Given the description of an element on the screen output the (x, y) to click on. 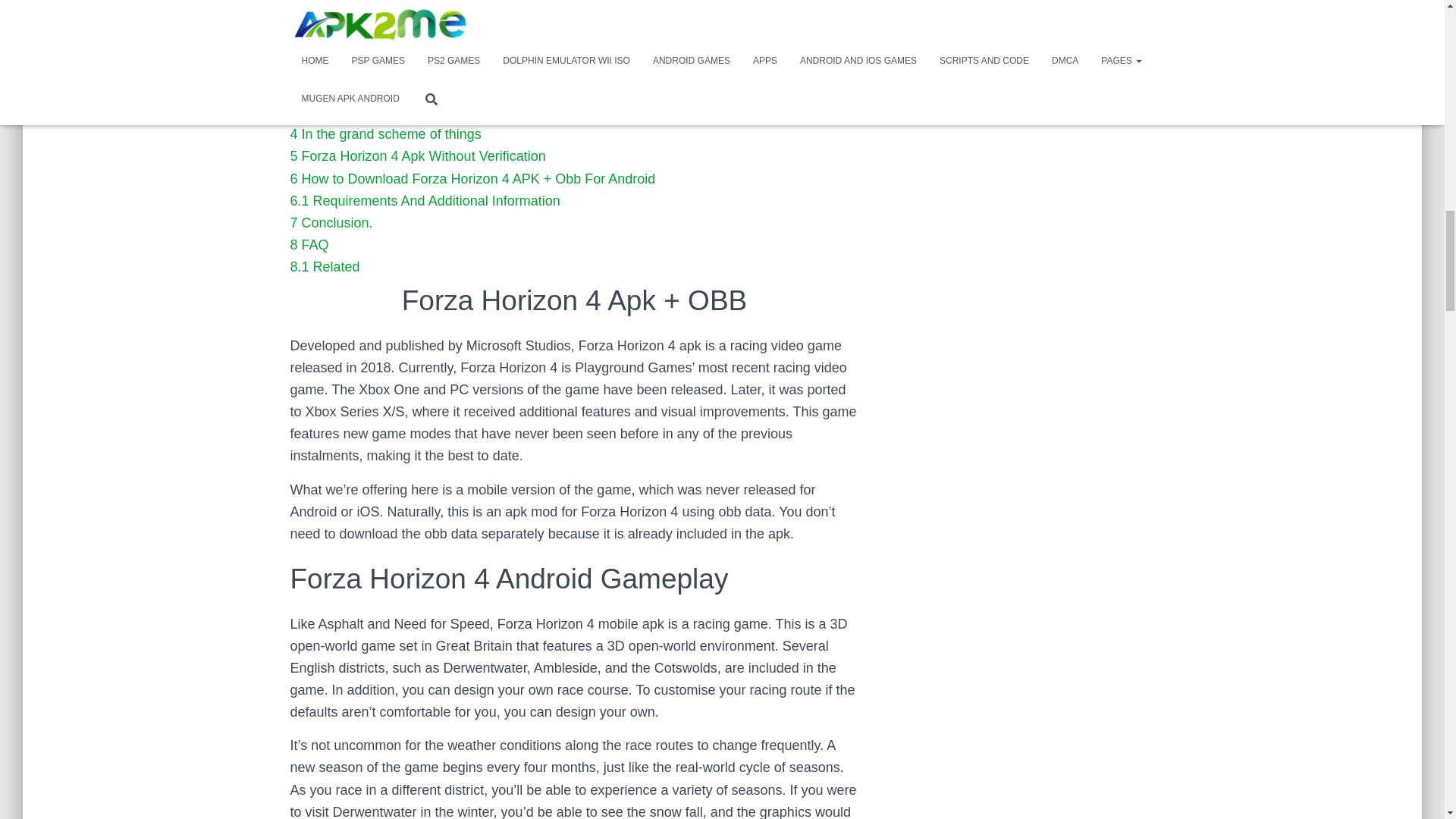
7 Conclusion. (330, 222)
8 FAQ (309, 244)
2 Forza Horizon 4 Android Gameplay (401, 23)
3.1 Multiplayer Mode (352, 68)
5 Forza Horizon 4 Apk Without Verification (416, 155)
3.2 Vehicles in Forza Horizon 4 APK Download Mediafire (461, 89)
6.1 Requirements And Additional Information (424, 200)
3 Modes for Playing Forza Horizon 4 Mobile Apk (434, 46)
3.3 Controls (325, 111)
8.1 Related (324, 266)
